Given the description of an element on the screen output the (x, y) to click on. 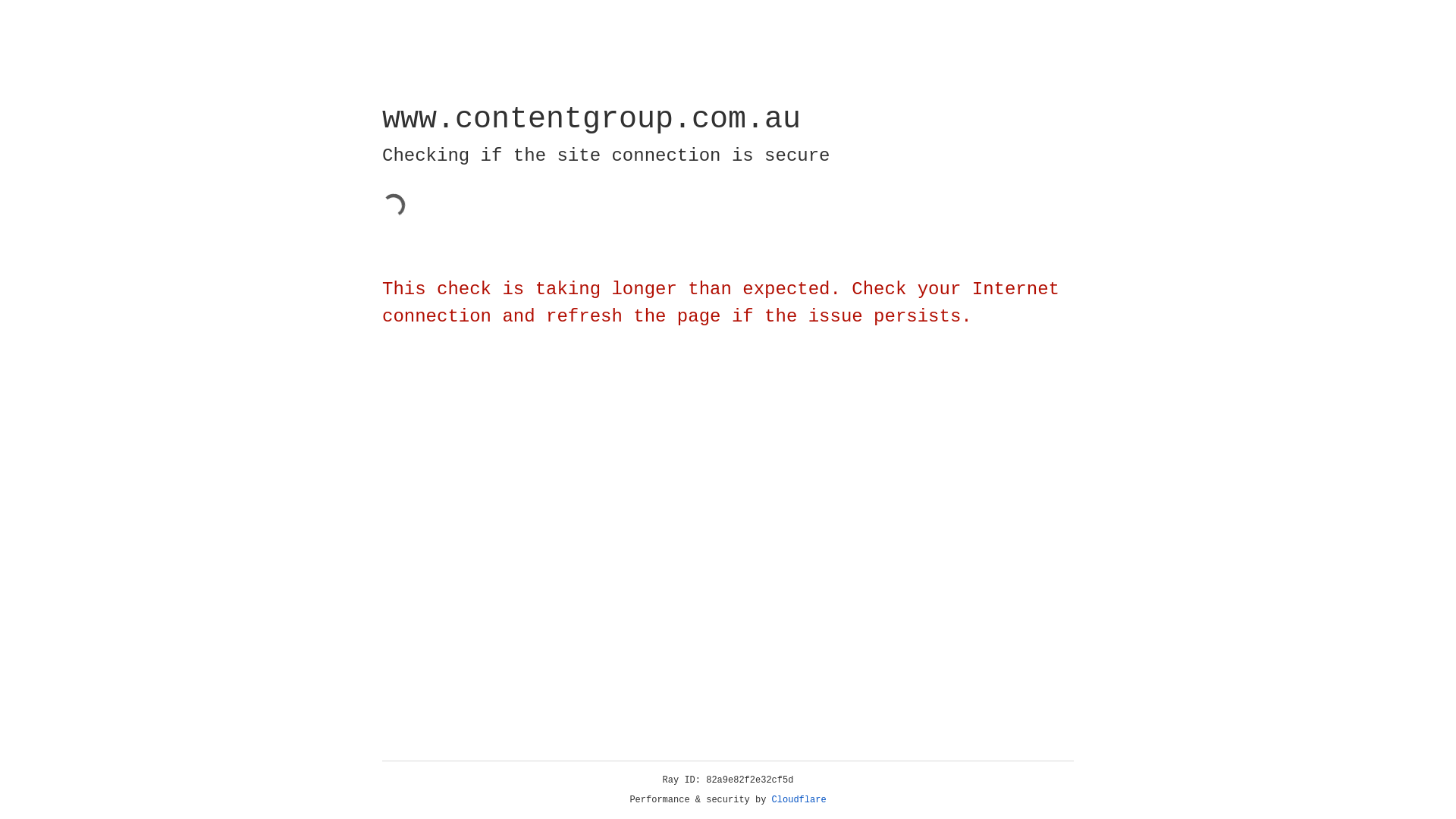
Cloudflare Element type: text (798, 799)
